Given the description of an element on the screen output the (x, y) to click on. 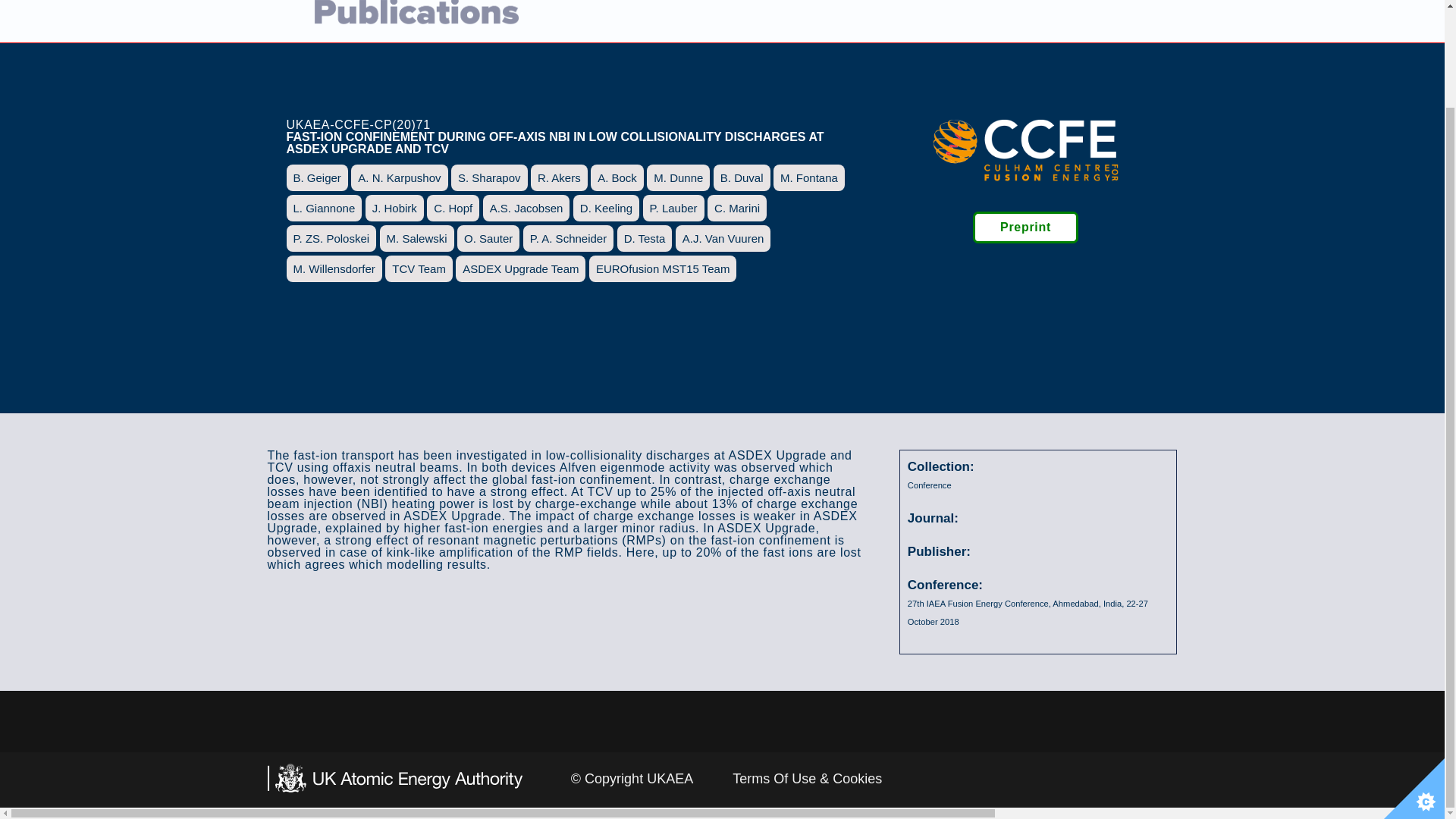
S. Sharapov (489, 177)
Reports (1069, 21)
P. A. Schneider (567, 238)
EUROfusion MST15 Team (662, 268)
ASDEX Upgrade Team (520, 268)
M. Fontana (808, 177)
B. Duval (741, 177)
M. Dunne (678, 177)
L. Giannone (324, 207)
A.S. Jacobsen (526, 207)
O. Sauter (488, 238)
C. Hopf (452, 207)
Contact us (1138, 21)
M. Willensdorfer (333, 268)
Publications (997, 21)
